Given the description of an element on the screen output the (x, y) to click on. 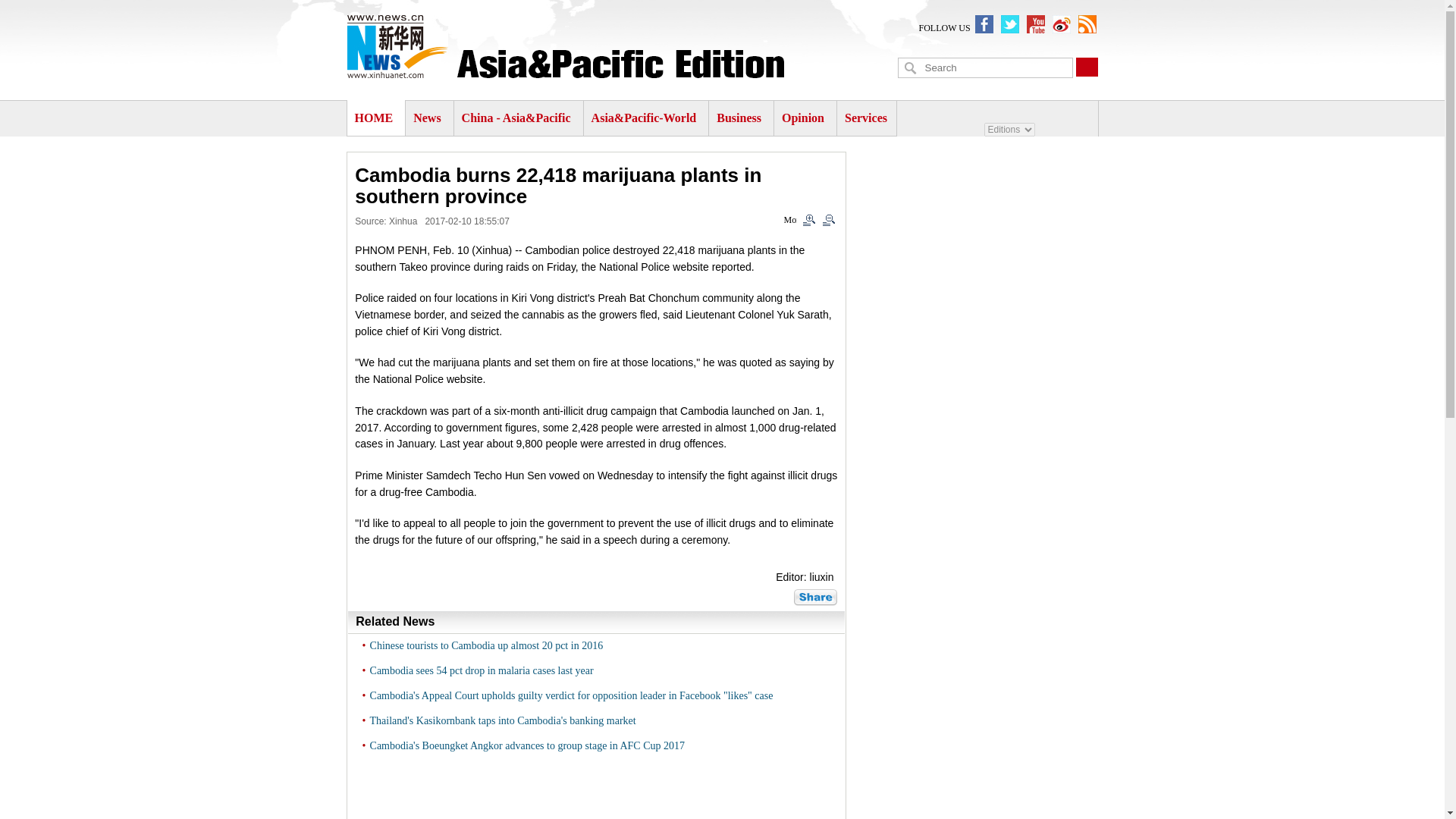
Go (1086, 66)
XinhuanetNews youbute (1035, 24)
More (790, 220)
News (427, 117)
xinhuaenglish weibo (1061, 24)
Go (1086, 66)
XinhuanetNews twitter (1010, 24)
xinhuanet english rss (1087, 24)
More (815, 597)
Business (738, 117)
newsxinhuanet facebook (983, 24)
Services (865, 117)
HOME (374, 117)
Opinion (802, 117)
